Given the description of an element on the screen output the (x, y) to click on. 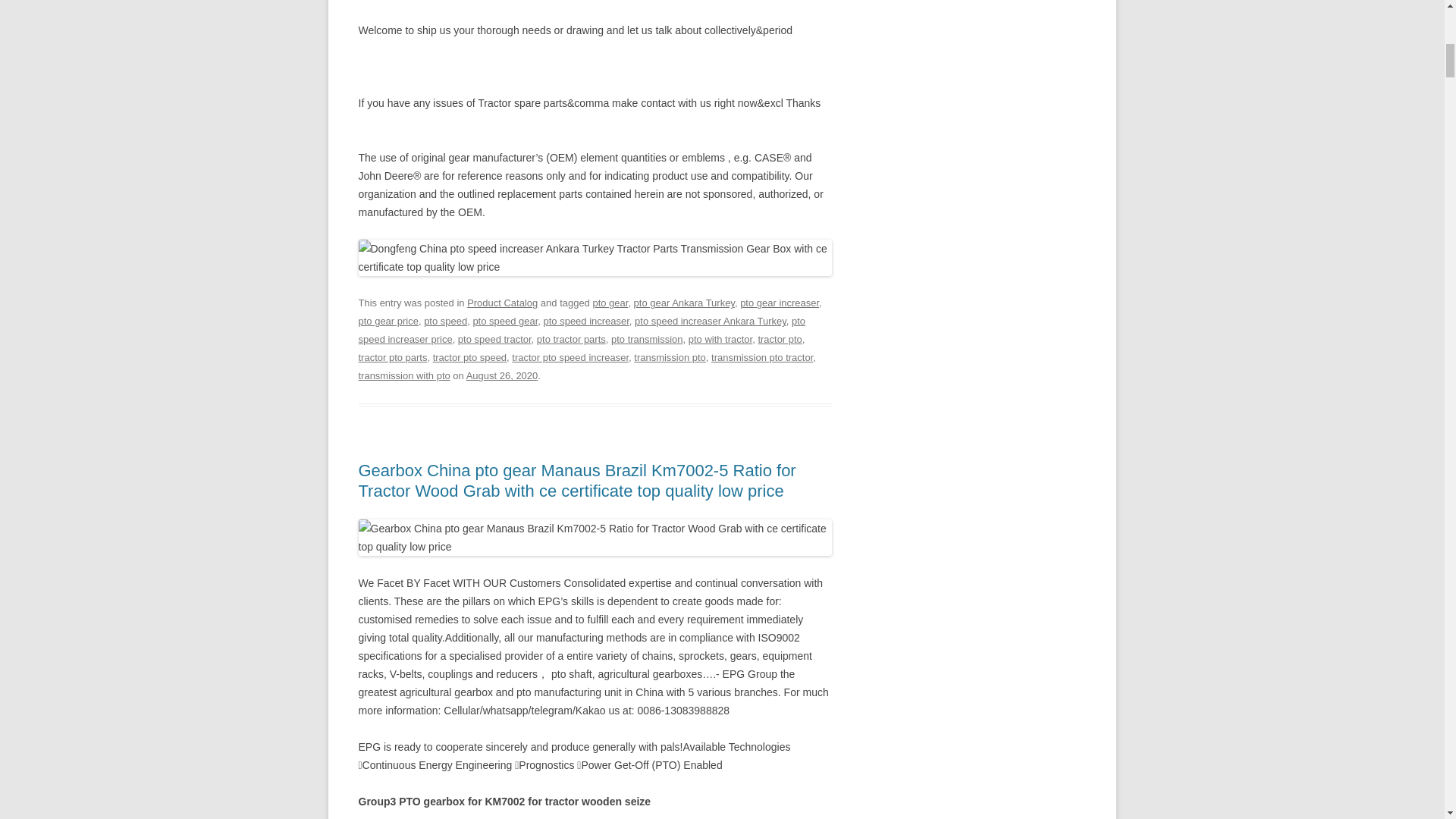
pto speed (445, 320)
pto with tractor (720, 338)
pto gear Ankara Turkey (684, 302)
pto gear price (387, 320)
transmission with pto (403, 375)
pto gear increaser (778, 302)
pto gear (609, 302)
August 26, 2020 (501, 375)
pto speed tractor (494, 338)
pto tractor parts (571, 338)
